Given the description of an element on the screen output the (x, y) to click on. 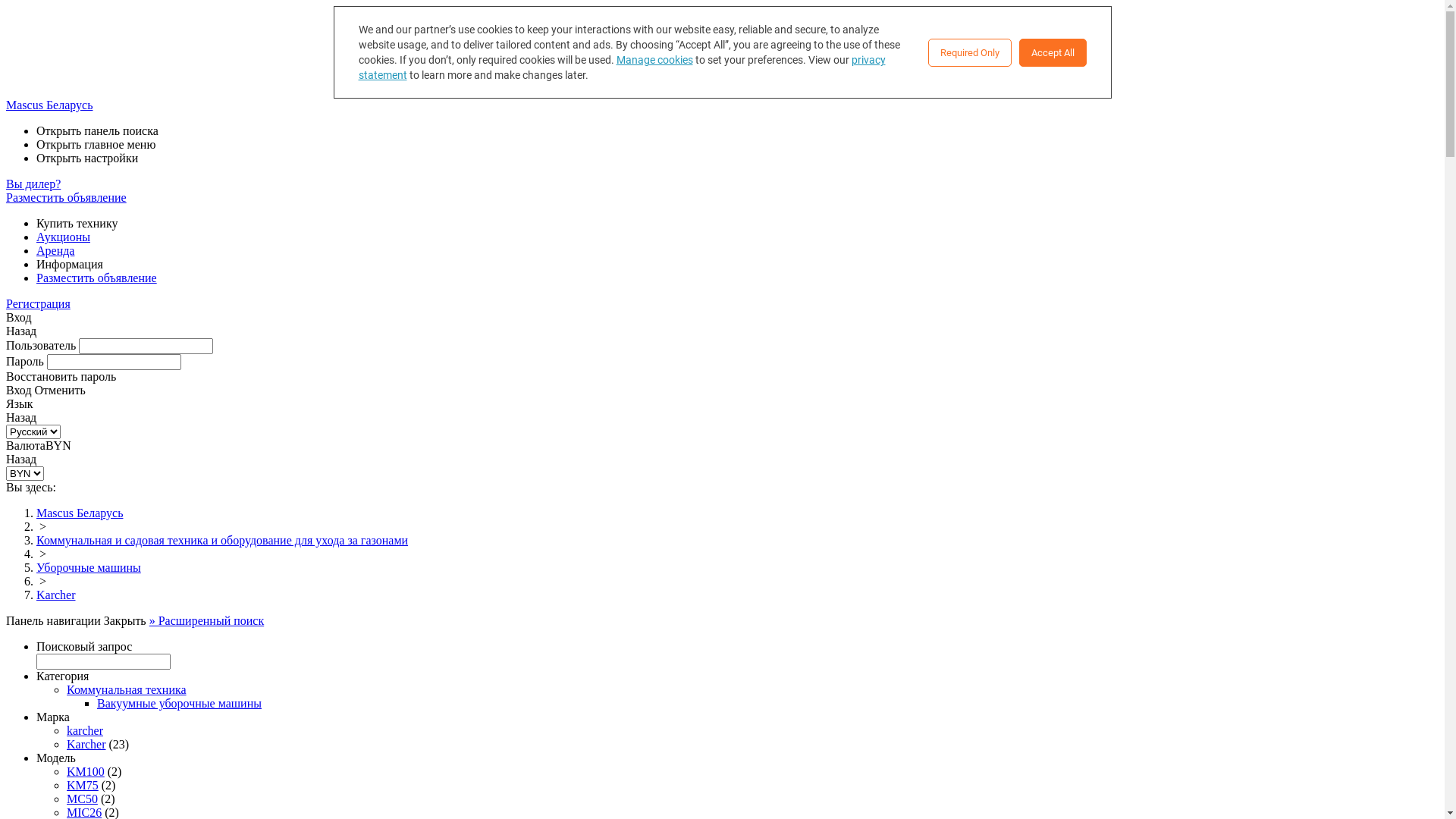
Accept All Element type: text (1052, 51)
Karcher Element type: text (86, 743)
privacy statement Element type: text (620, 67)
KM100 Element type: text (85, 771)
karcher Element type: text (84, 730)
MC50 Element type: text (81, 798)
KM75 Element type: text (82, 784)
Karcher Element type: text (55, 594)
Manage cookies Element type: text (653, 59)
Required Only Element type: text (969, 51)
